Given the description of an element on the screen output the (x, y) to click on. 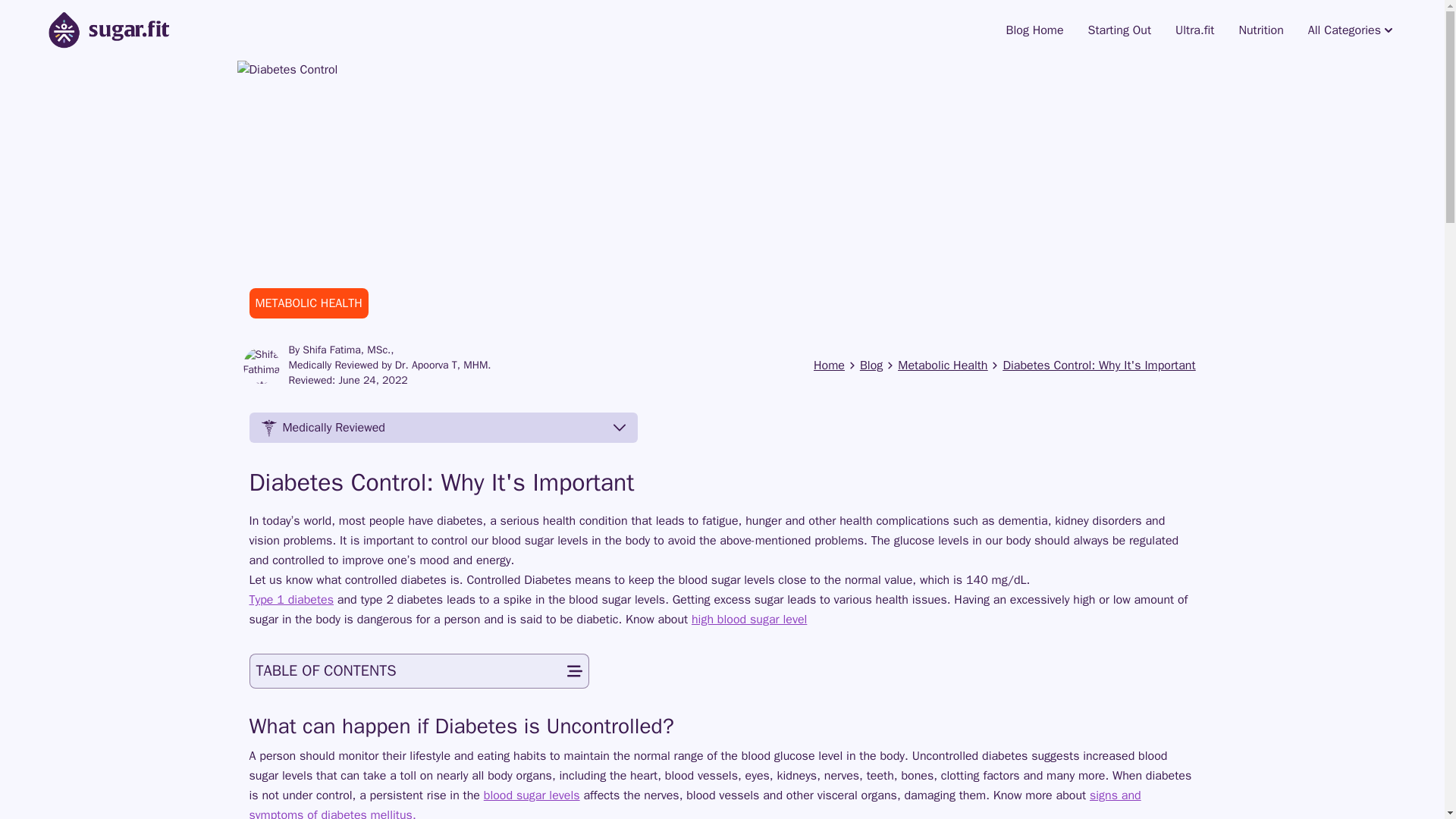
Ultra.fit (1194, 29)
Starting Out (1119, 29)
Metabolic Health (942, 365)
Diabetes Control: Why It's Important (1099, 365)
Home (828, 365)
Dr. Apoorva T, MHM. (443, 365)
Nutrition (1260, 29)
high blood sugar level (748, 619)
Type 1 diabetes (290, 599)
Shifa Fatima, MSc., (347, 350)
Blog Home (1035, 29)
Blog (871, 365)
